Given the description of an element on the screen output the (x, y) to click on. 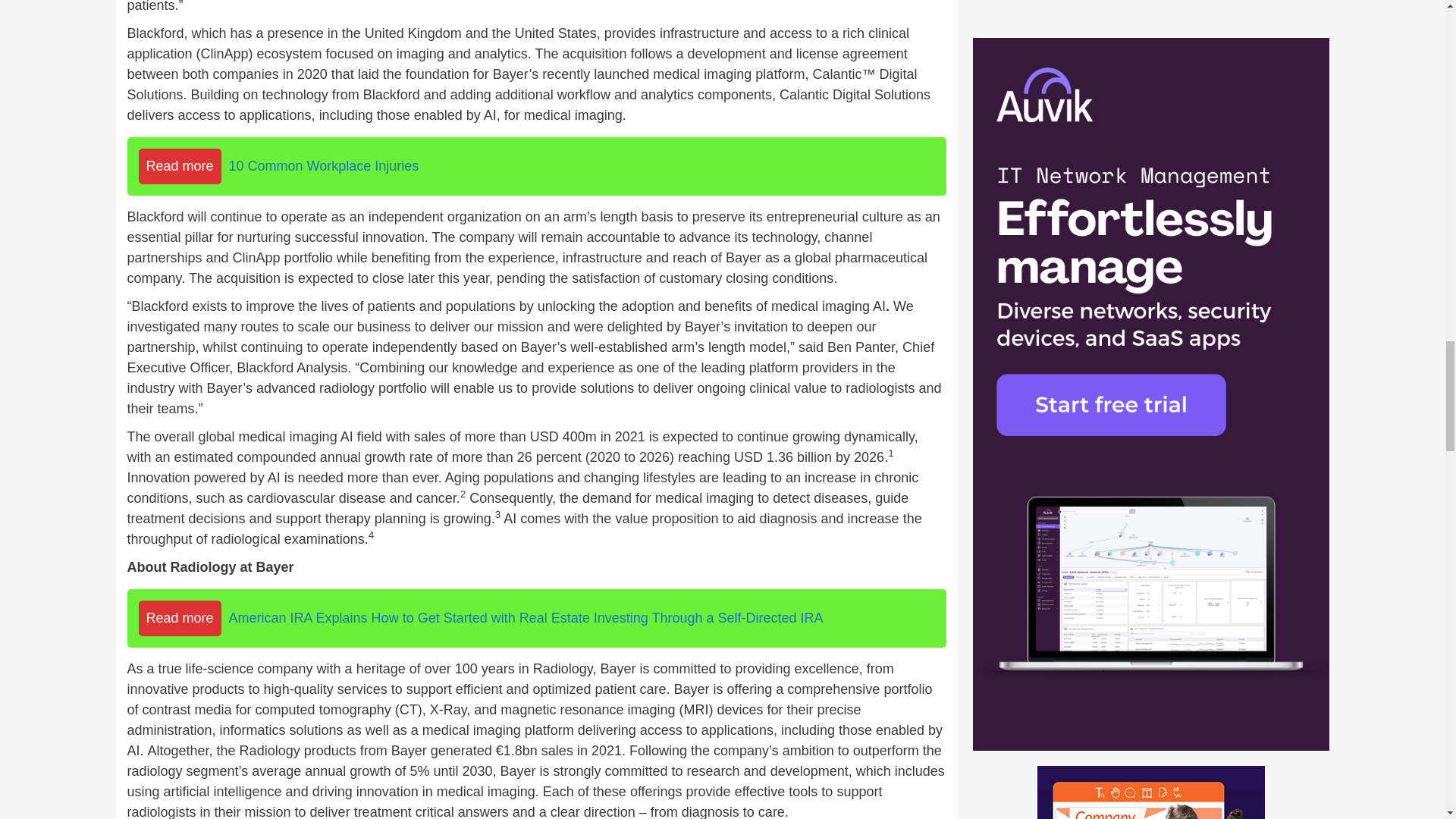
Read more10 Common Workplace Injuries (537, 166)
